Given the description of an element on the screen output the (x, y) to click on. 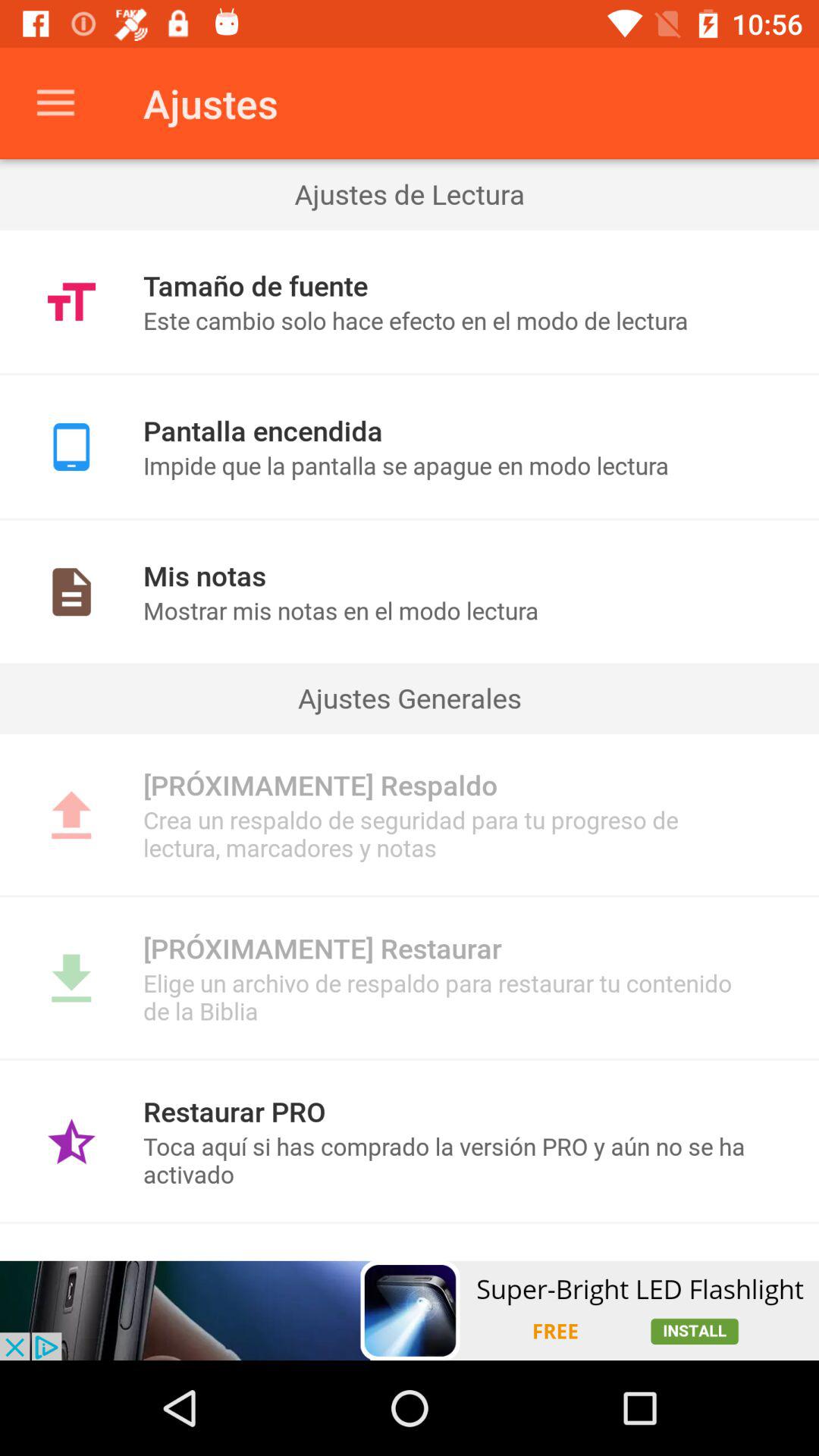
open add (409, 1310)
